Given the description of an element on the screen output the (x, y) to click on. 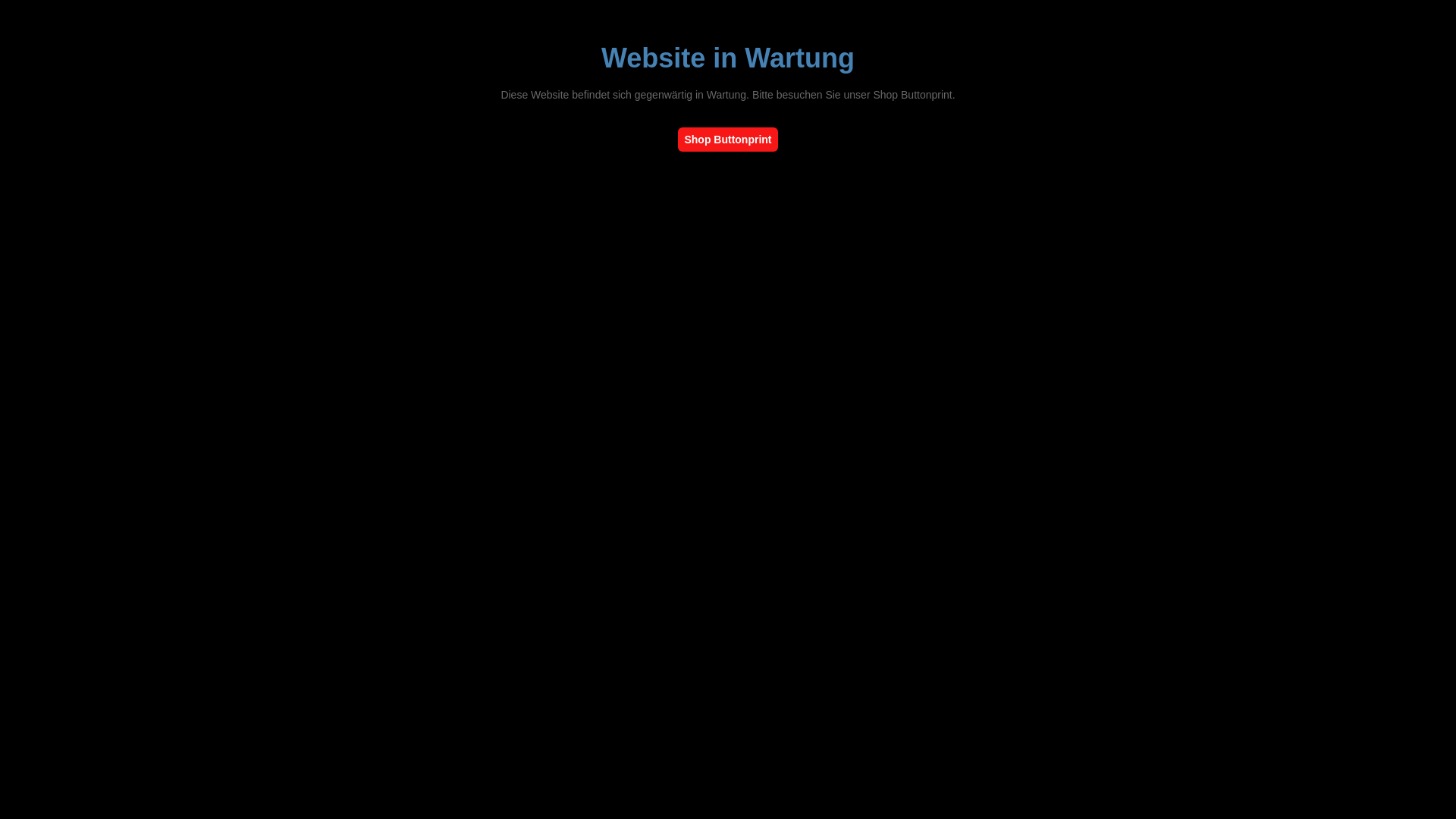
Shop Buttonprint Element type: text (727, 139)
